Given the description of an element on the screen output the (x, y) to click on. 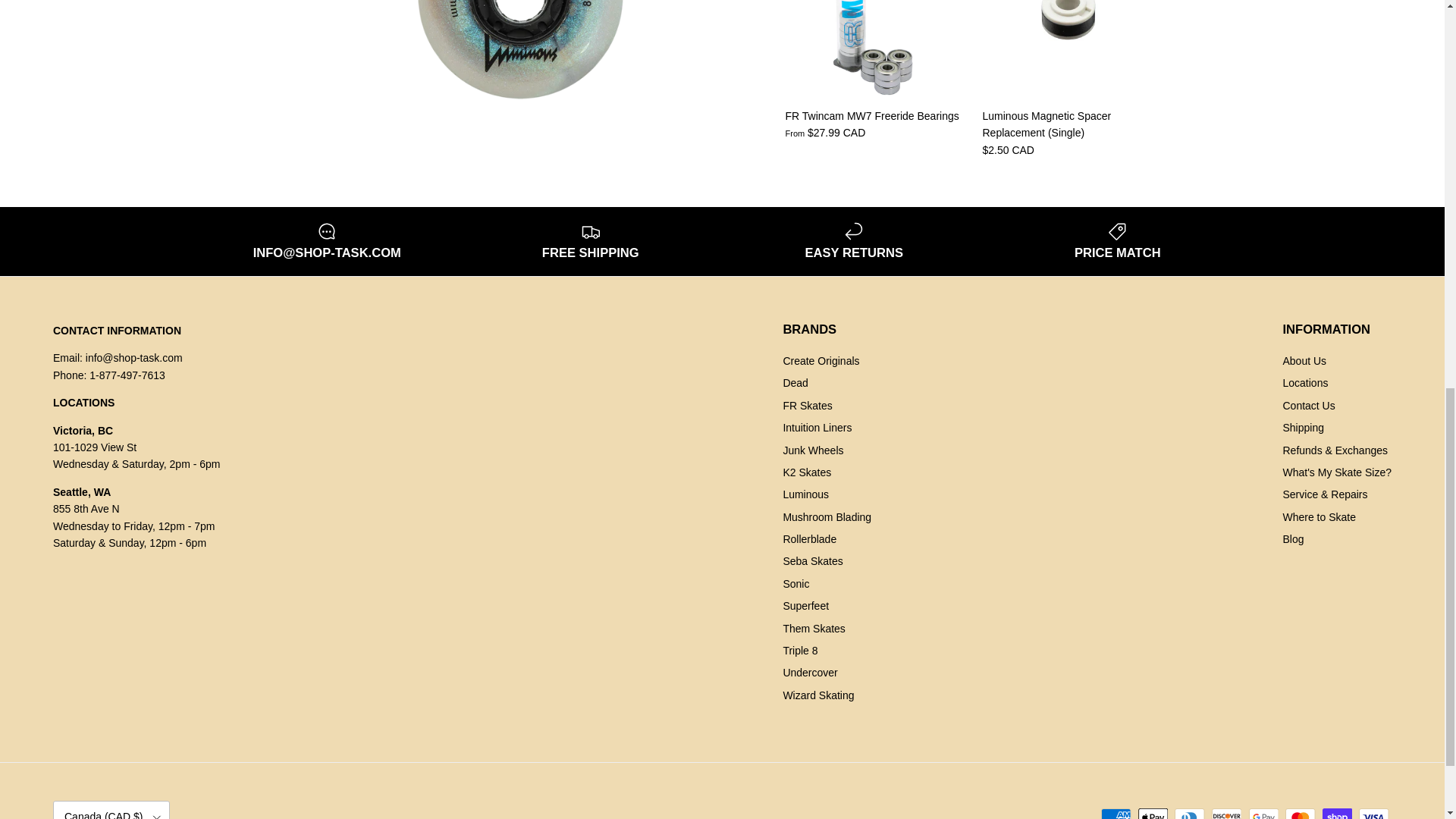
Mastercard (1299, 813)
Apple Pay (1152, 813)
Diners Club (1189, 813)
American Express (1115, 813)
Shop Pay (1337, 813)
Google Pay (1262, 813)
Discover (1226, 813)
